Given the description of an element on the screen output the (x, y) to click on. 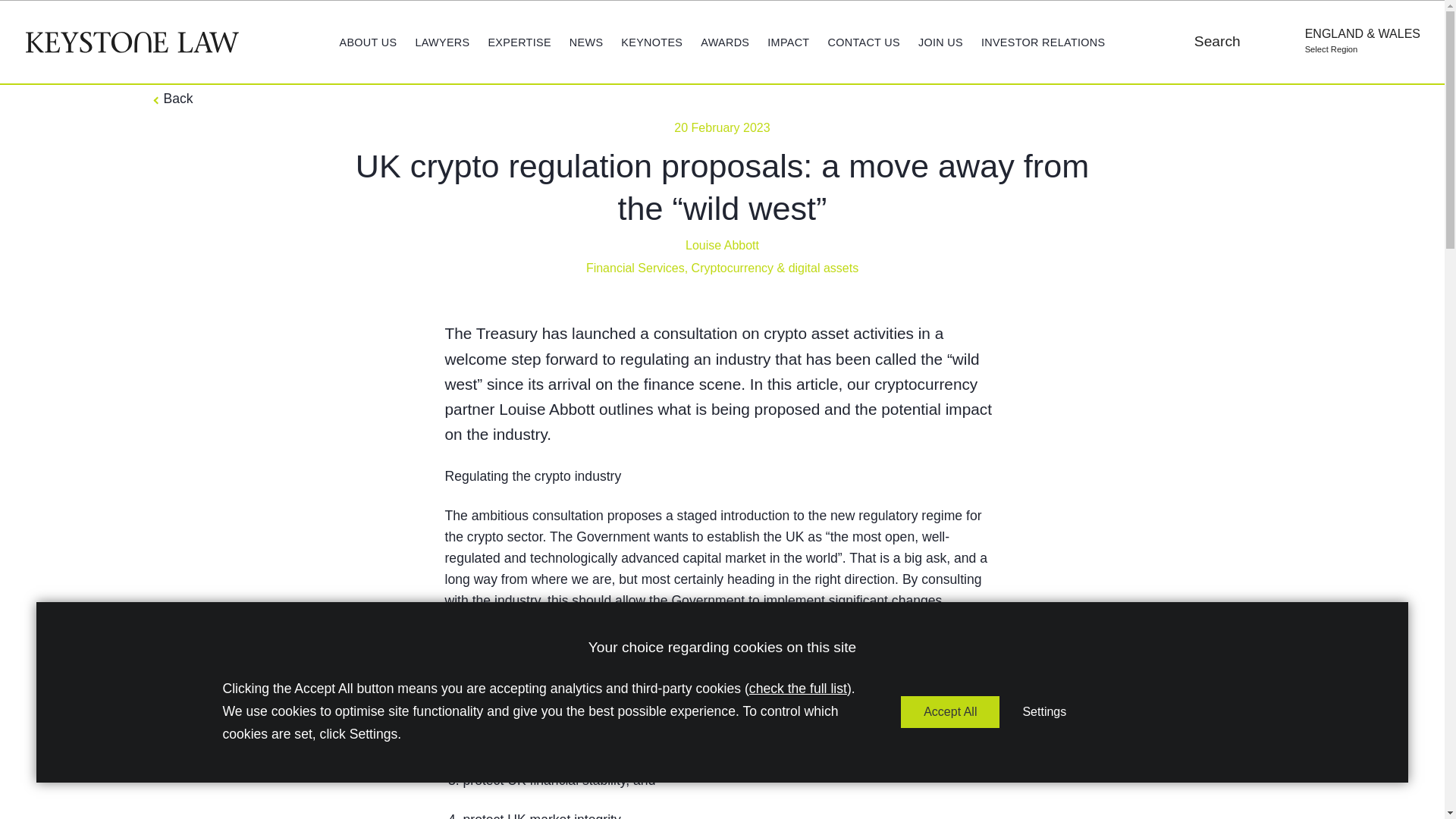
Keystone Law (132, 41)
